Given the description of an element on the screen output the (x, y) to click on. 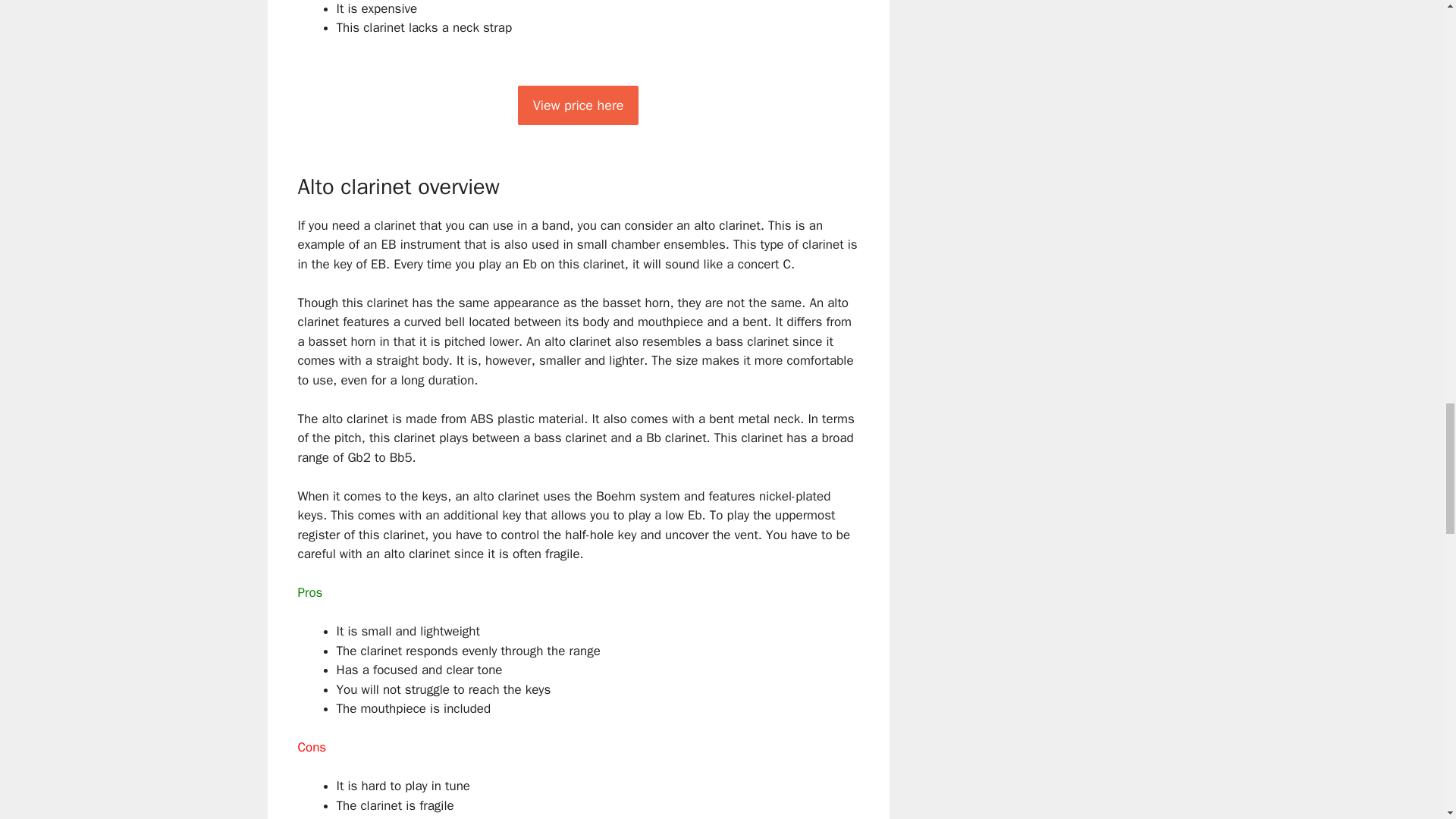
View price here (578, 105)
